Given the description of an element on the screen output the (x, y) to click on. 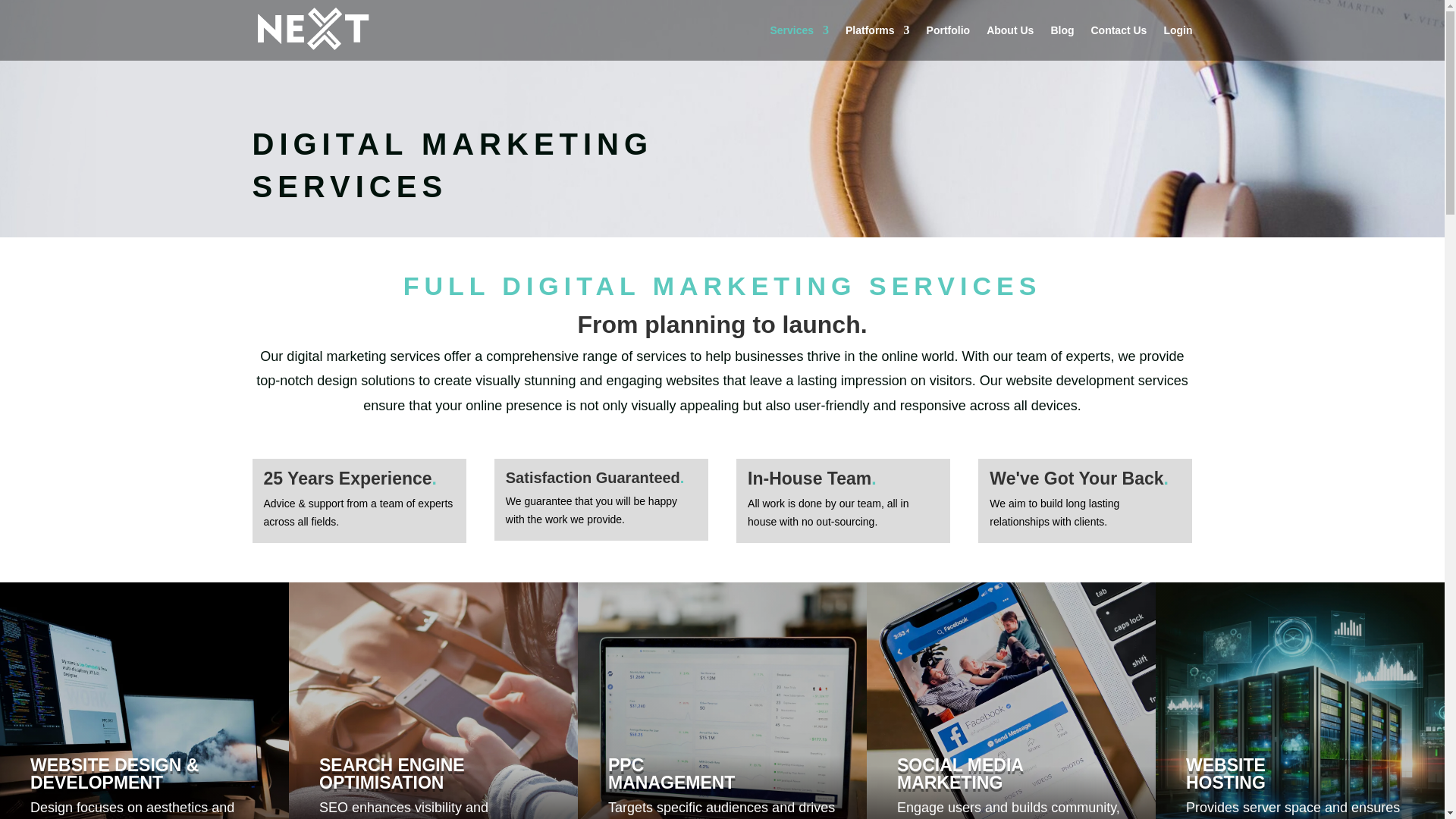
Services (799, 42)
Portfolio (948, 42)
About Us (1010, 42)
Platforms (877, 42)
Contact Us (1118, 42)
